Given the description of an element on the screen output the (x, y) to click on. 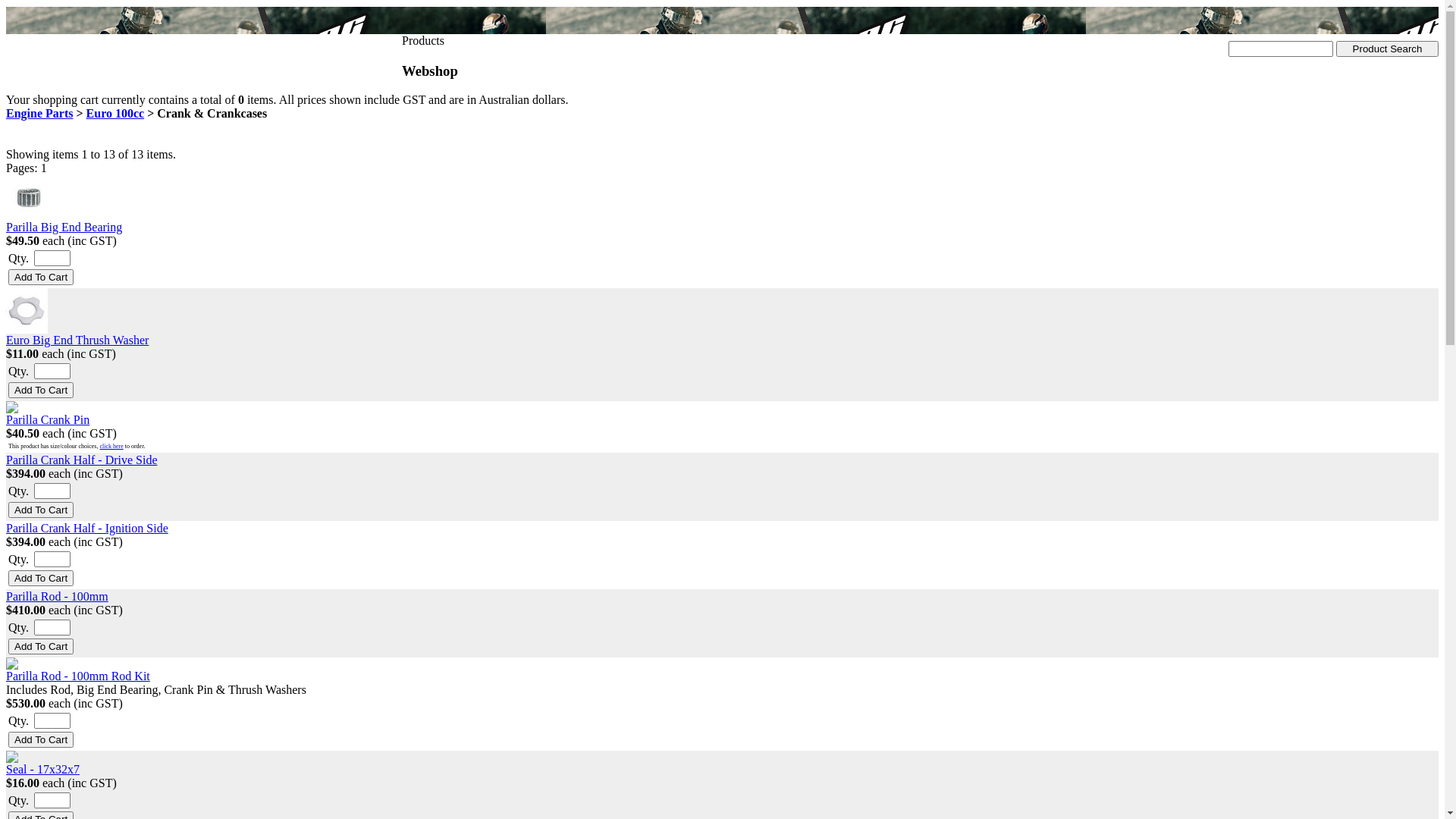
Parilla Rod - 100mm Element type: text (57, 595)
click here Element type: text (110, 445)
Euro 100cc Element type: text (115, 112)
Engine Parts Element type: text (39, 112)
Parilla Rod - 100mm Rod Kit Element type: text (78, 675)
Add To Cart Element type: text (40, 277)
Parilla Crank Half - Ignition Side Element type: text (87, 527)
Add To Cart Element type: text (40, 578)
Seal - 17x32x7 Element type: text (42, 768)
Add To Cart Element type: text (40, 509)
Parilla Big End Bearing Element type: text (64, 226)
Parilla Crank Pin Element type: text (47, 419)
Add To Cart Element type: text (40, 739)
Add To Cart Element type: text (40, 646)
Add To Cart Element type: text (40, 390)
Parilla Crank Half - Drive Side Element type: text (81, 459)
Product Search Element type: text (1387, 48)
Euro Big End Thrush Washer Element type: text (77, 339)
